Given the description of an element on the screen output the (x, y) to click on. 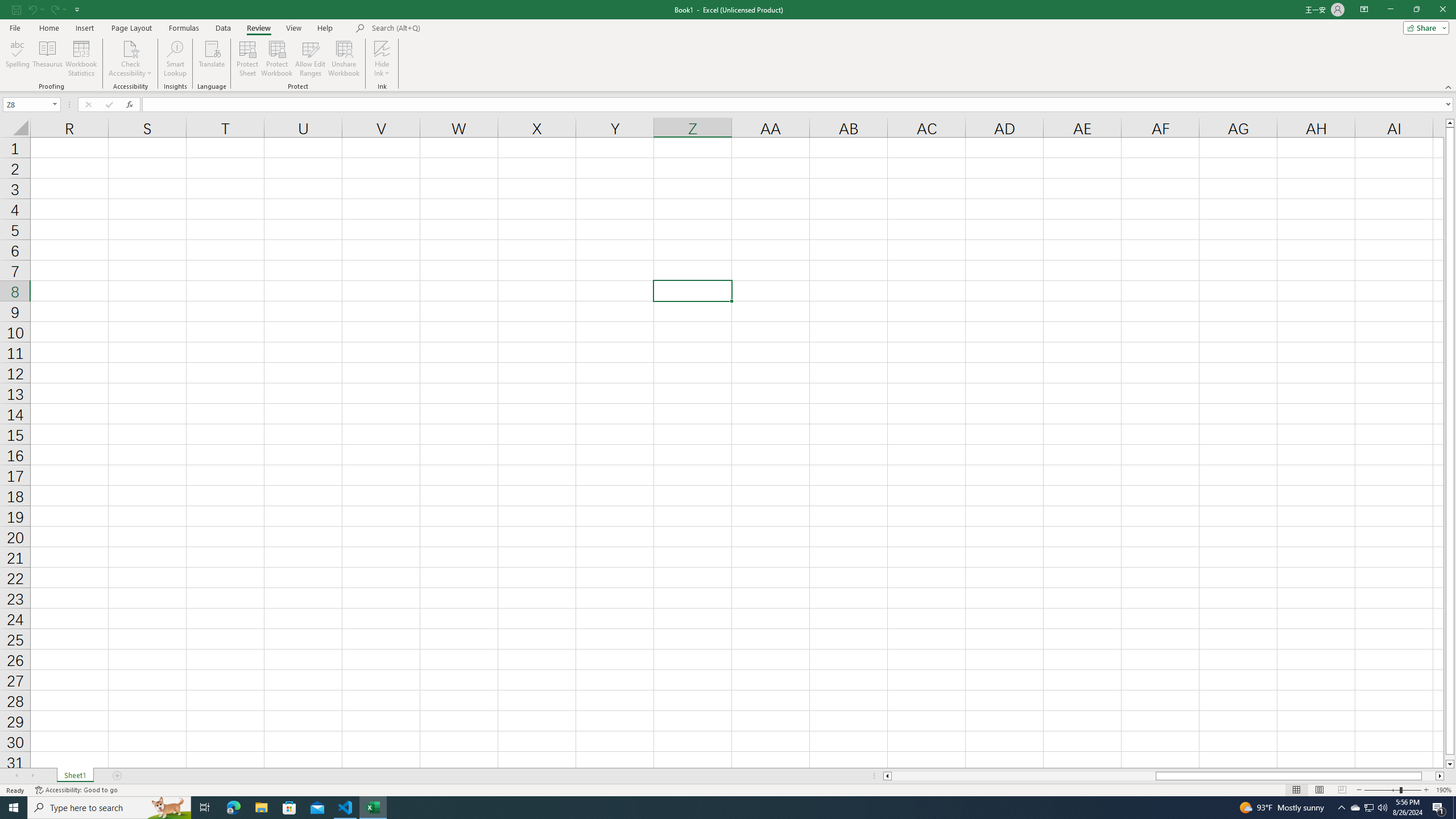
Formula Bar (798, 104)
Line up (1449, 122)
Line down (1449, 764)
Save (16, 9)
Check Accessibility (129, 48)
Restore Down (1416, 9)
Zoom In (1426, 790)
Normal (1296, 790)
Add Sheet (117, 775)
Page Break Preview (1342, 790)
Insert (83, 28)
Zoom Out (1381, 790)
View (293, 28)
